Given the description of an element on the screen output the (x, y) to click on. 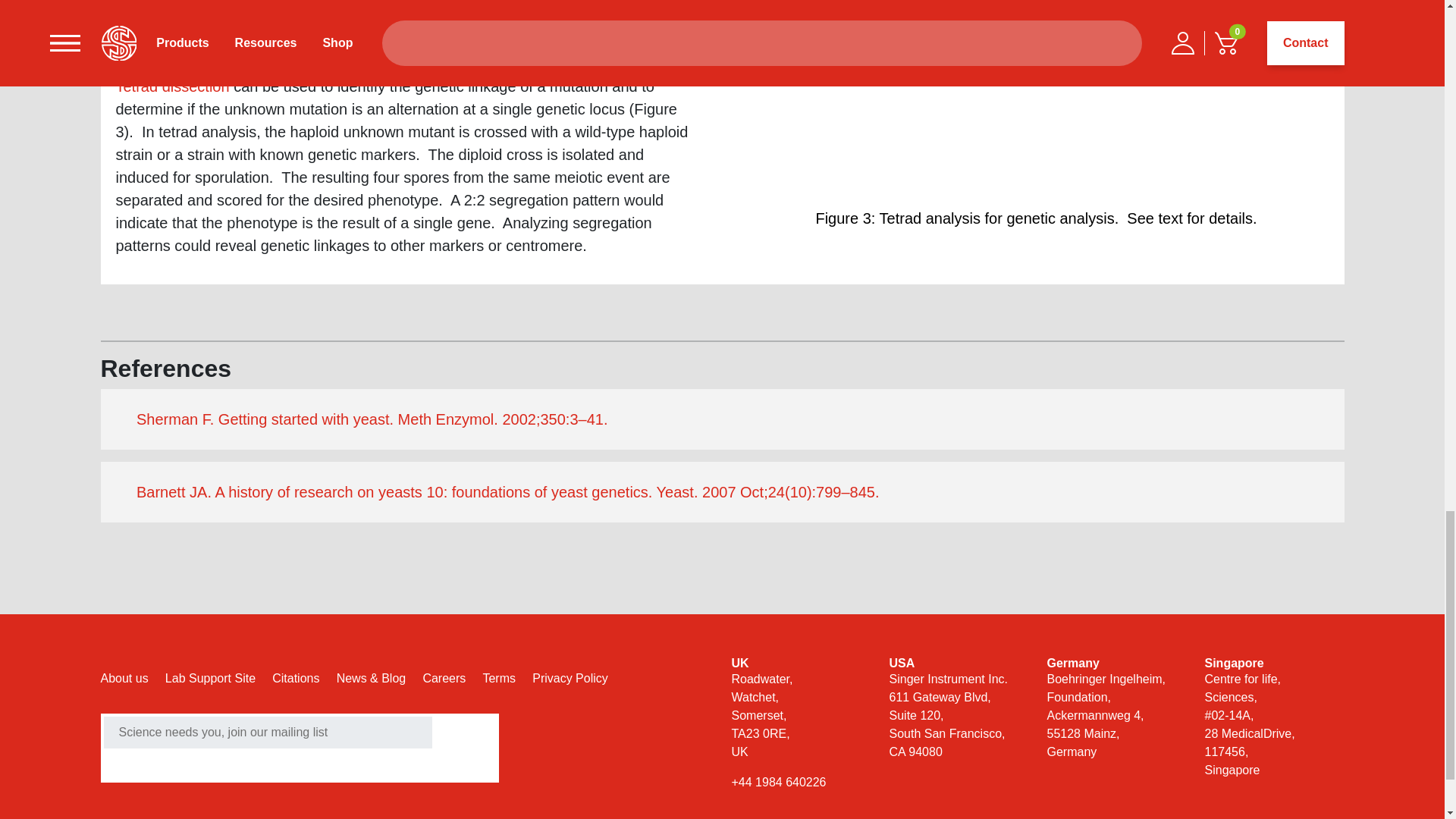
Sign up (136, 763)
